Given the description of an element on the screen output the (x, y) to click on. 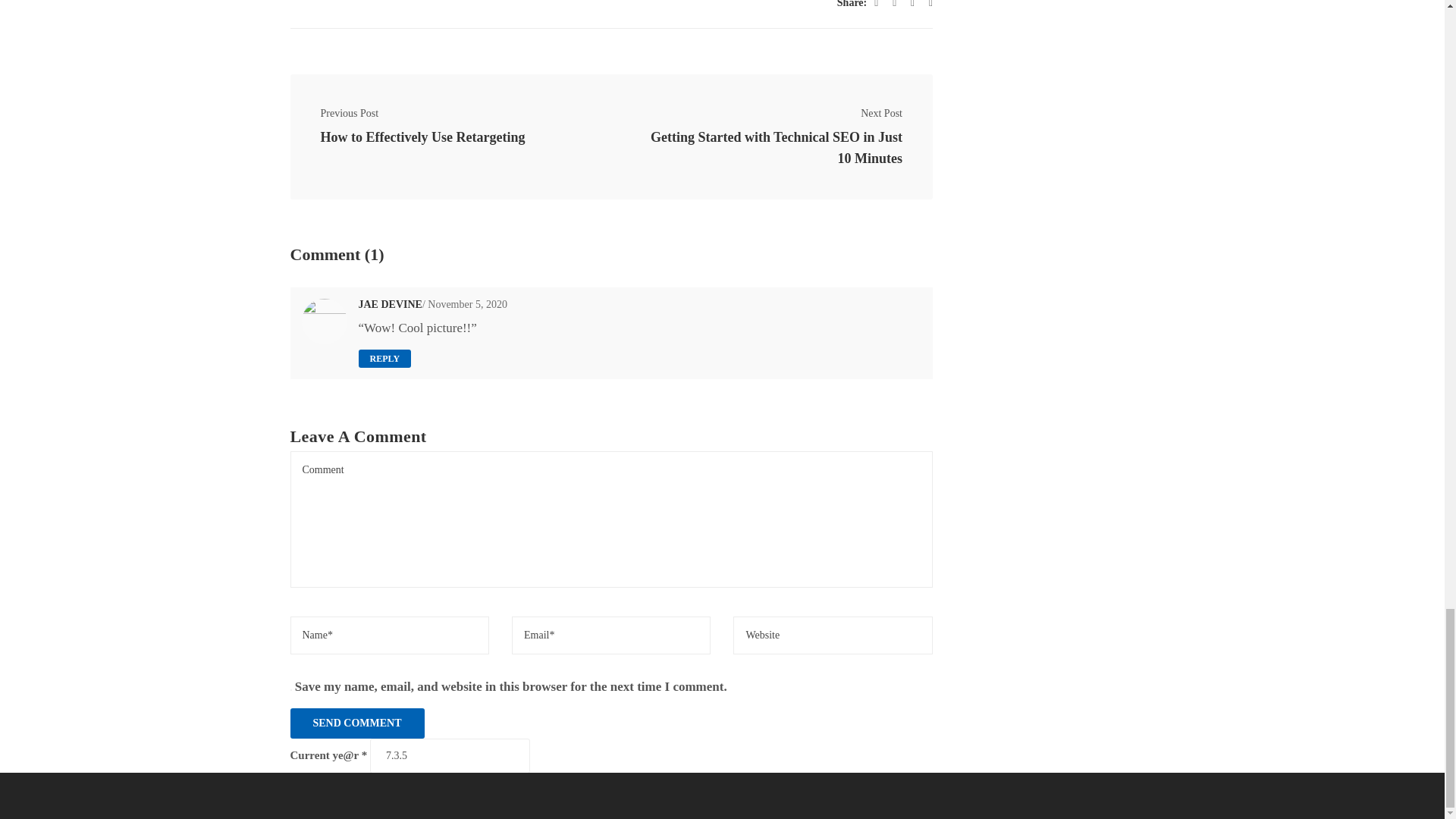
How to Effectively Use Retargeting (450, 137)
REPLY (384, 358)
Getting Started with Technical SEO in Just 10 Minutes (772, 147)
7.3.5 (449, 755)
Send Comment (356, 723)
Send Comment (356, 723)
